Given the description of an element on the screen output the (x, y) to click on. 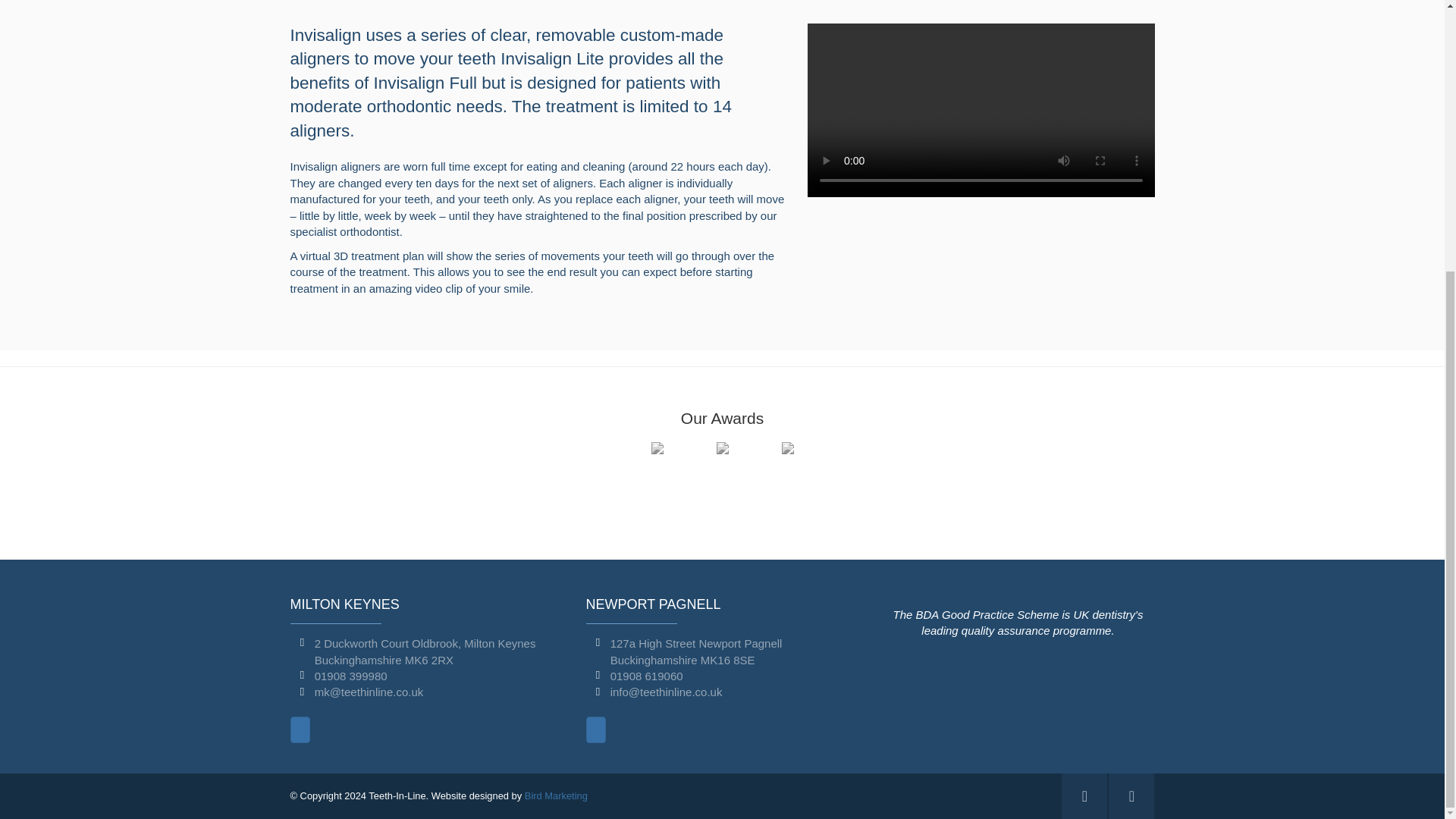
01908 399980 (350, 675)
01908 619060 (646, 675)
127a High Street Newport Pagnell Buckinghamshire MK16 8SE (696, 651)
Bird Marketing (556, 795)
